Given the description of an element on the screen output the (x, y) to click on. 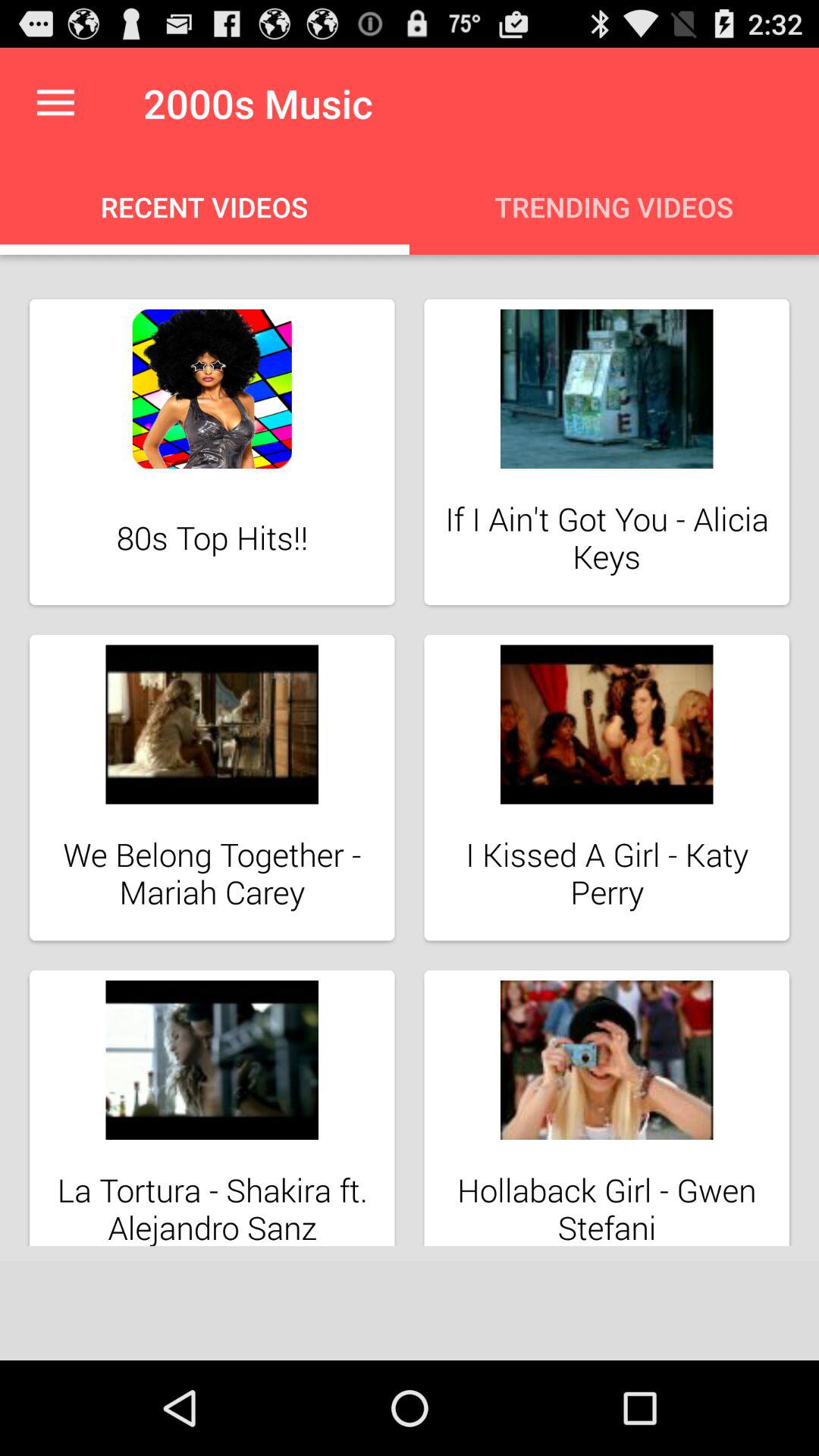
turn on item next to the 2000s music item (55, 103)
